Given the description of an element on the screen output the (x, y) to click on. 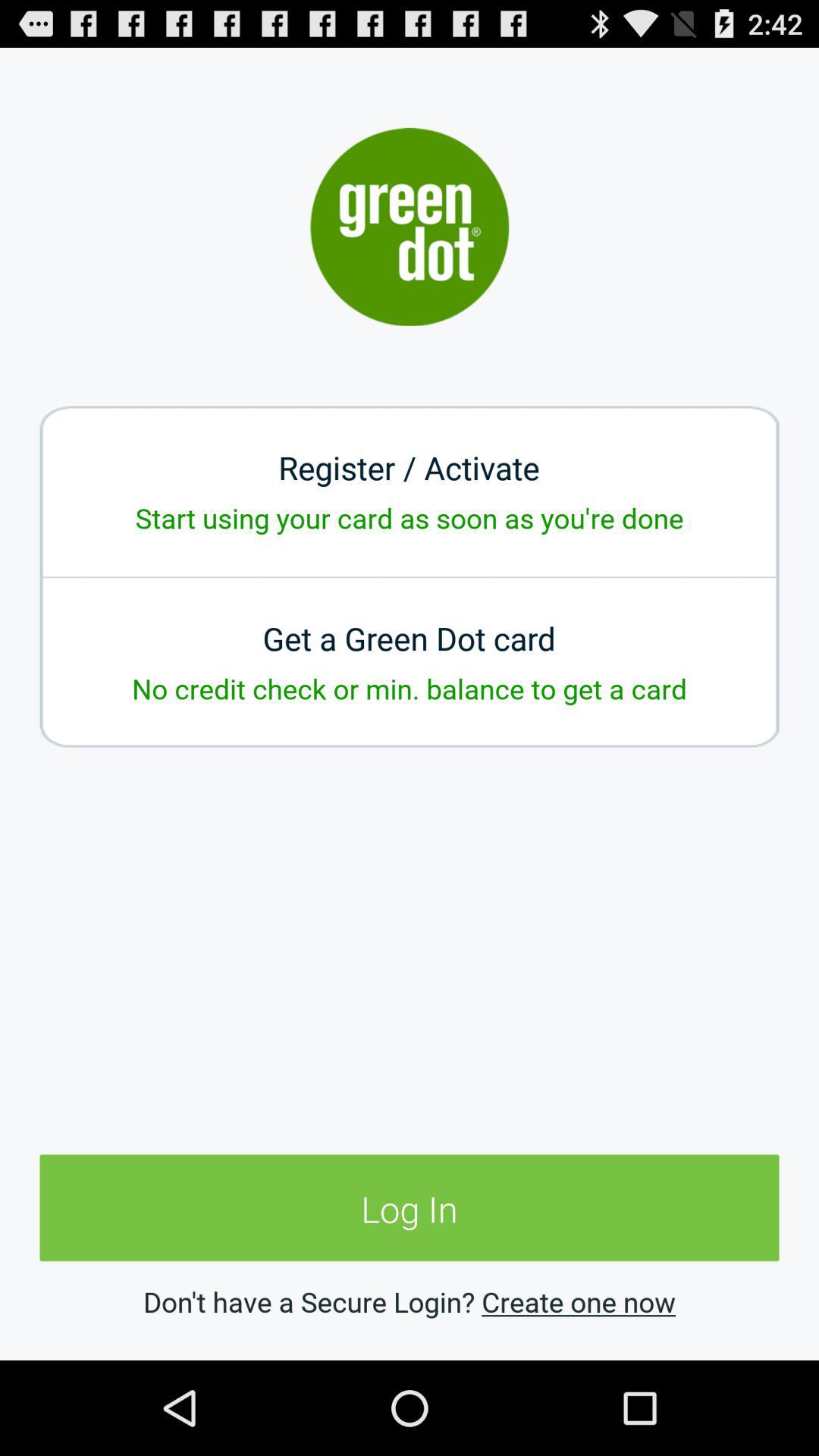
click log in (409, 1208)
